Given the description of an element on the screen output the (x, y) to click on. 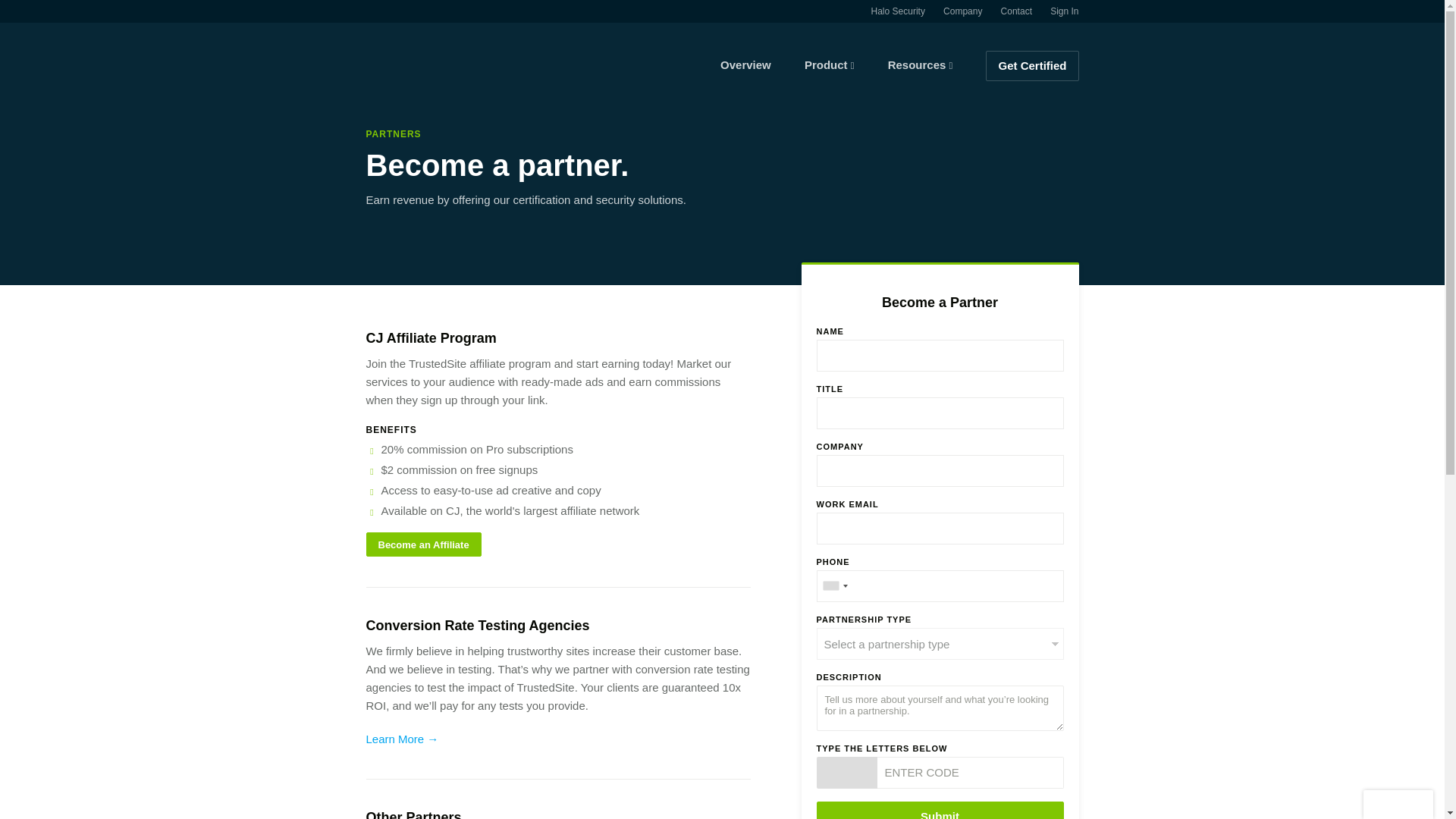
Submit (938, 810)
Product (829, 64)
Company (962, 11)
TrustedSite Certified (1397, 804)
Halo Security (897, 11)
Sign In (1063, 11)
Resources (920, 64)
Contact (1016, 11)
Become an Affiliate (422, 544)
Overview (745, 64)
